Given the description of an element on the screen output the (x, y) to click on. 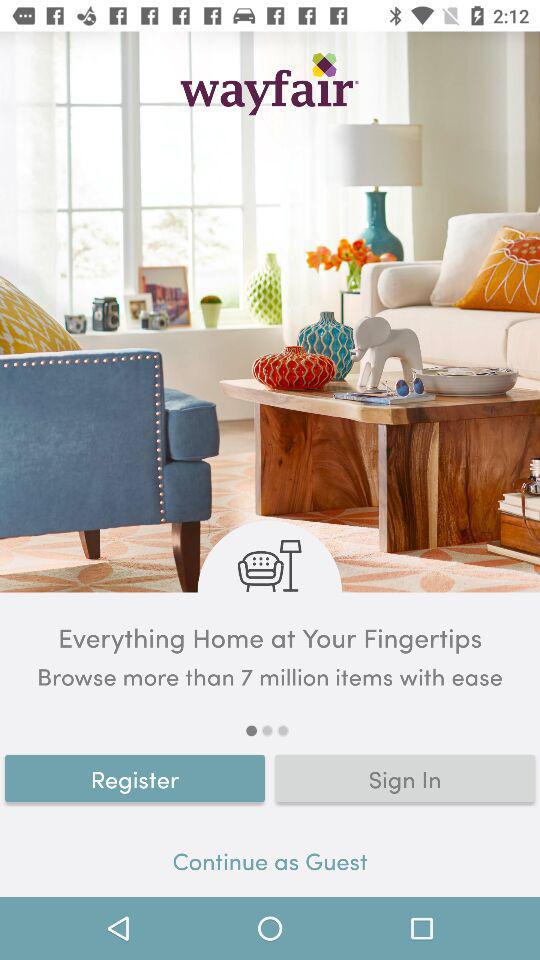
open the sign in item (405, 778)
